Given the description of an element on the screen output the (x, y) to click on. 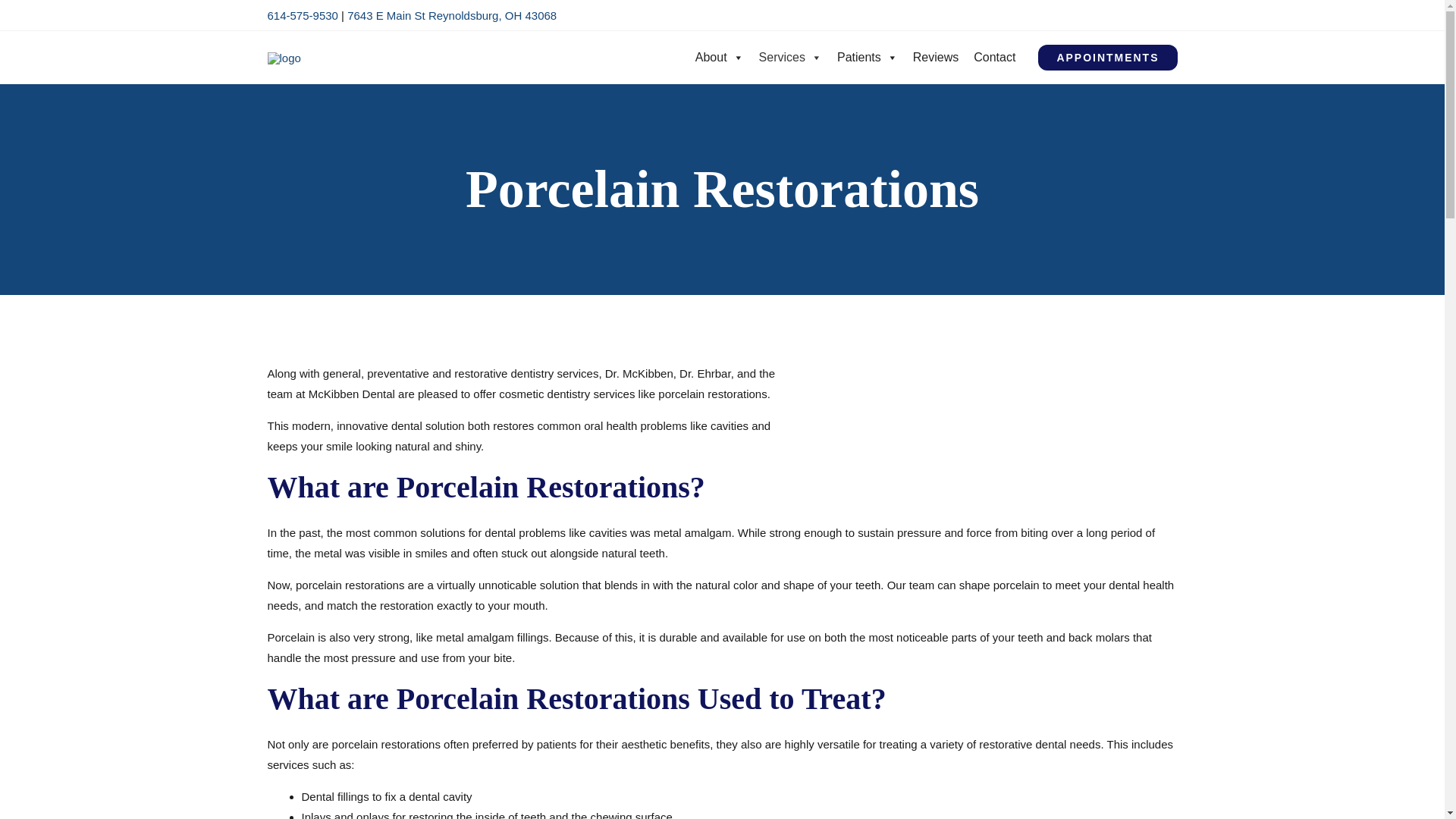
7643 E Main St Reynoldsburg, OH 43068 (451, 15)
About (719, 57)
614-575-9530 (301, 15)
Services (790, 57)
